Given the description of an element on the screen output the (x, y) to click on. 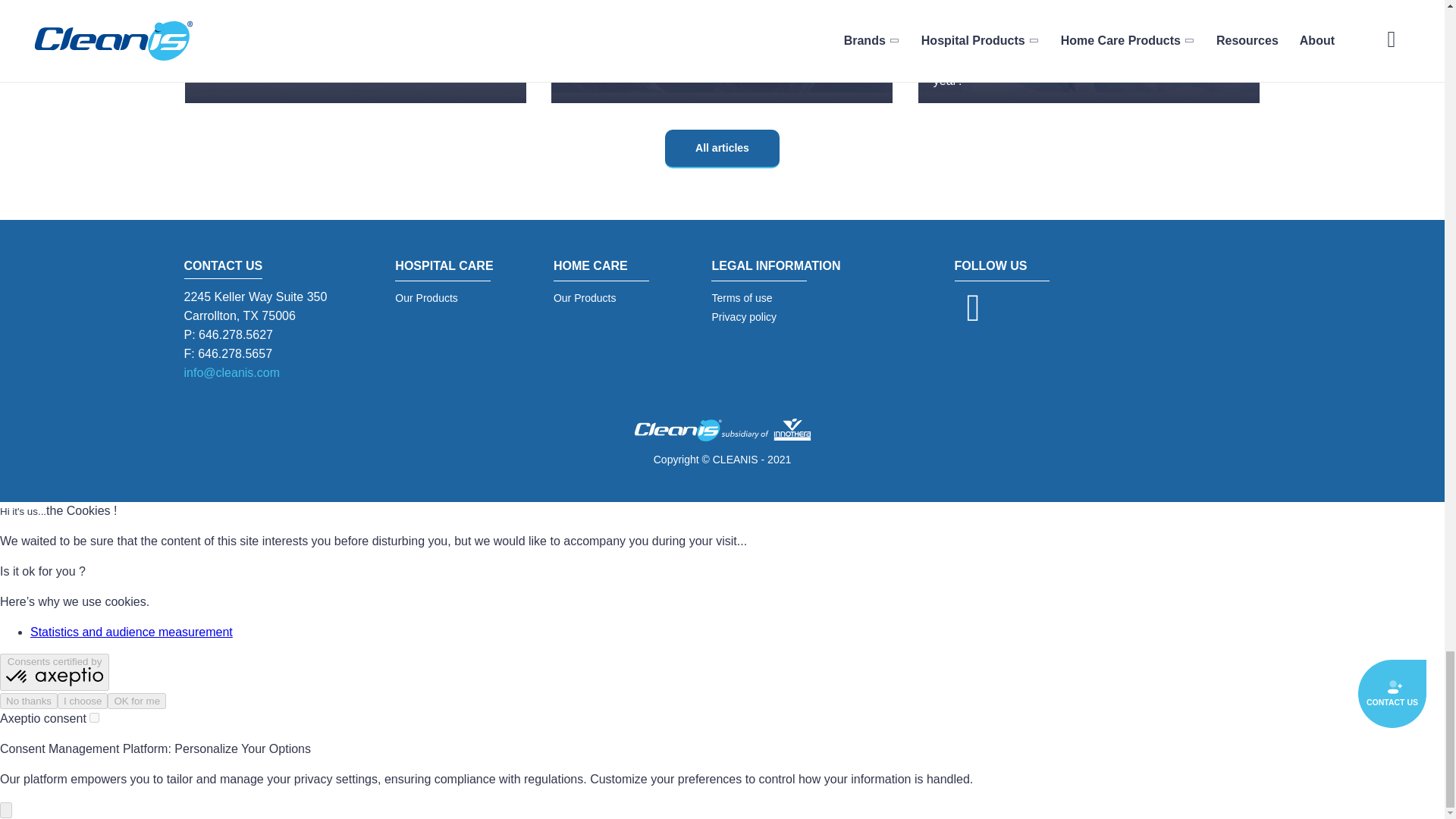
HOSPITAL CARE (451, 268)
Privacy policy (775, 316)
Use This Product to Reduce HAIs and Save Money (1088, 41)
LEGAL INFORMATION (775, 268)
Terms of use (775, 298)
Our Products (451, 298)
All articles (721, 148)
HOME CARE (609, 268)
Our Products (609, 298)
